Given the description of an element on the screen output the (x, y) to click on. 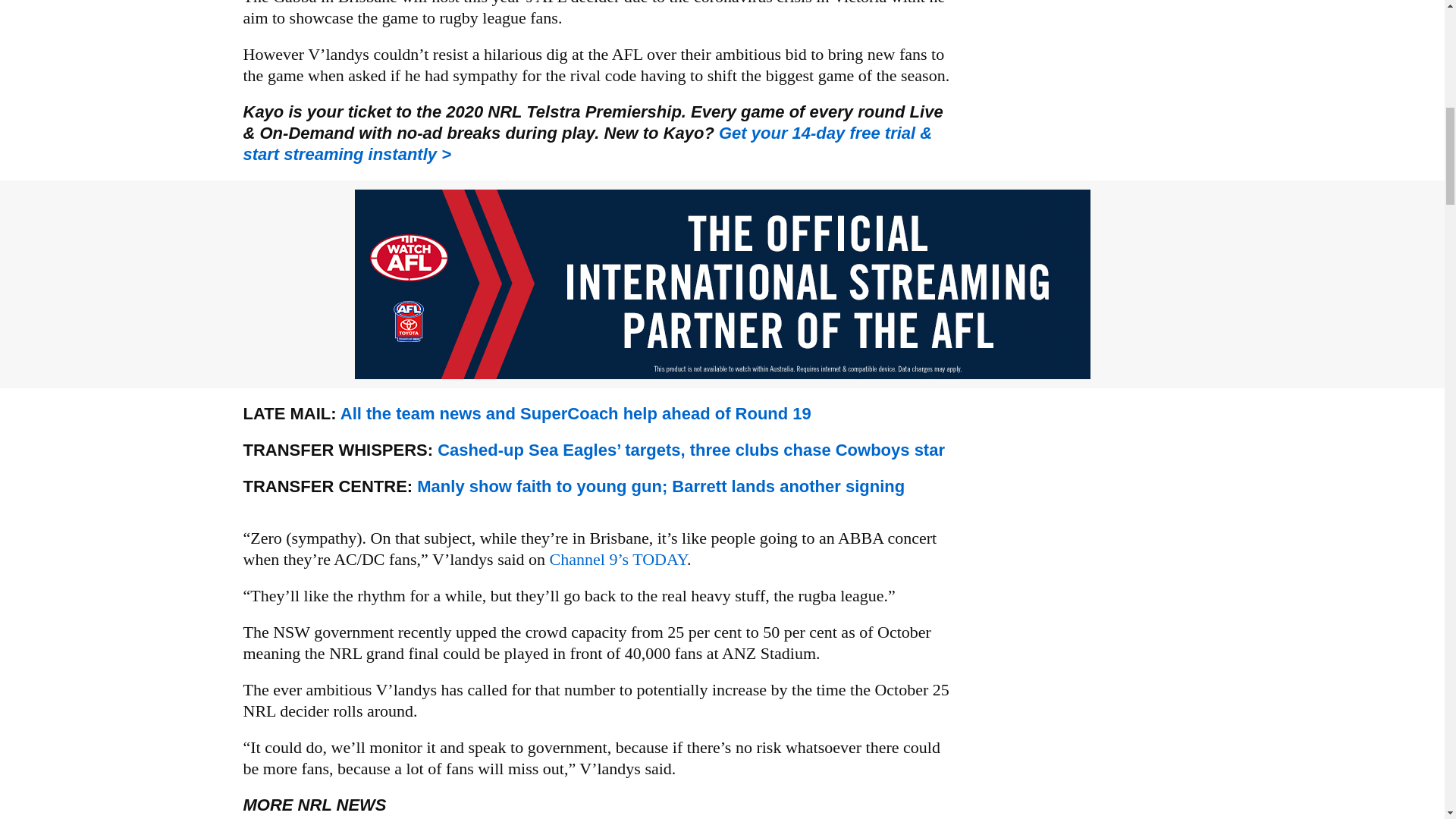
www.foxsports.com.au (575, 413)
All the team news and SuperCoach help ahead of Round 19 (575, 413)
www.foxsports.com.au (660, 486)
www.kayosports.com.au (587, 143)
Manly show faith to young gun; Barrett lands another signing (660, 486)
